Given the description of an element on the screen output the (x, y) to click on. 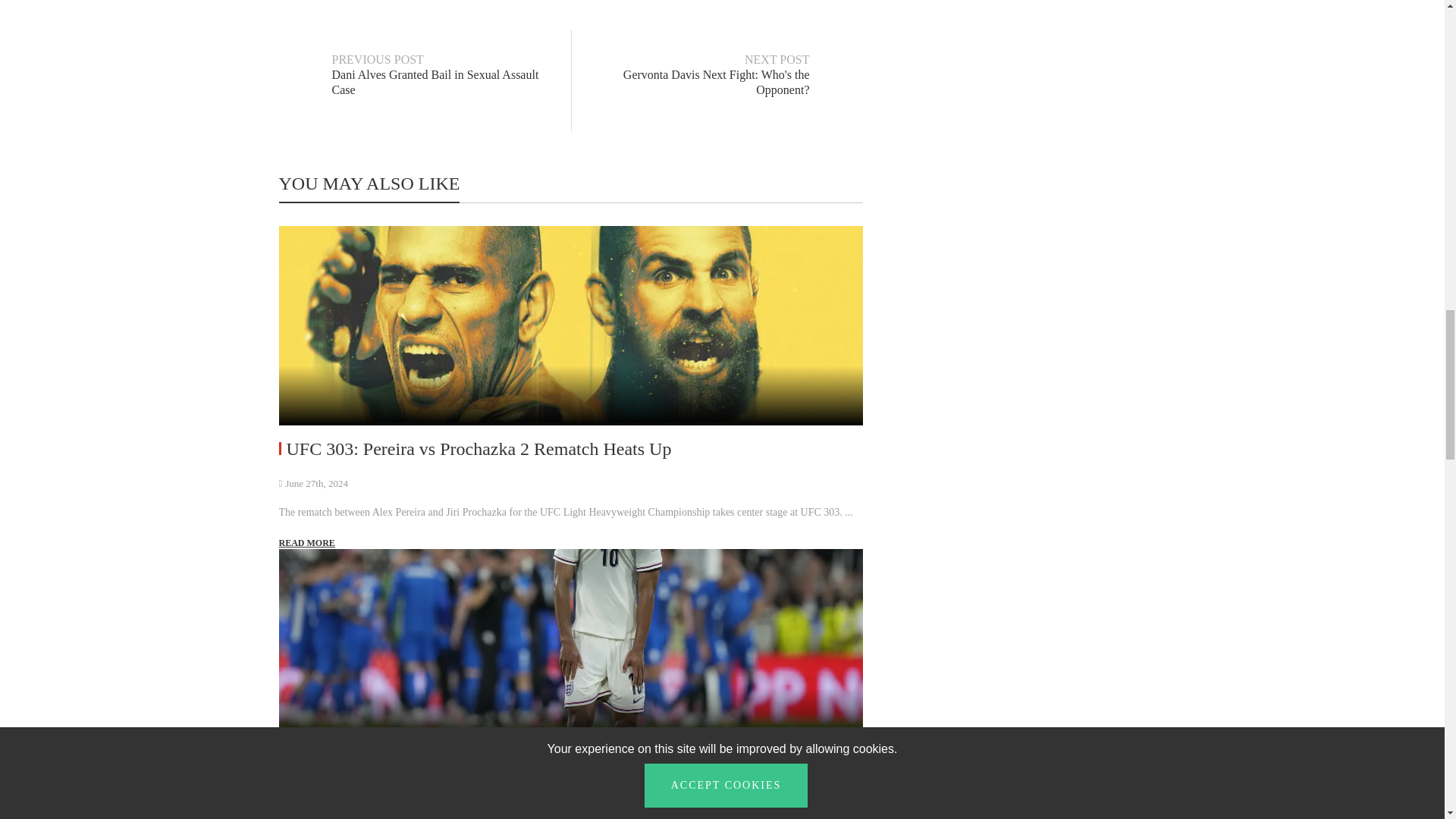
READ MORE (422, 108)
UFC 303: Pereira vs Prochazka 2 Rematch Heats Up (306, 542)
